Given the description of an element on the screen output the (x, y) to click on. 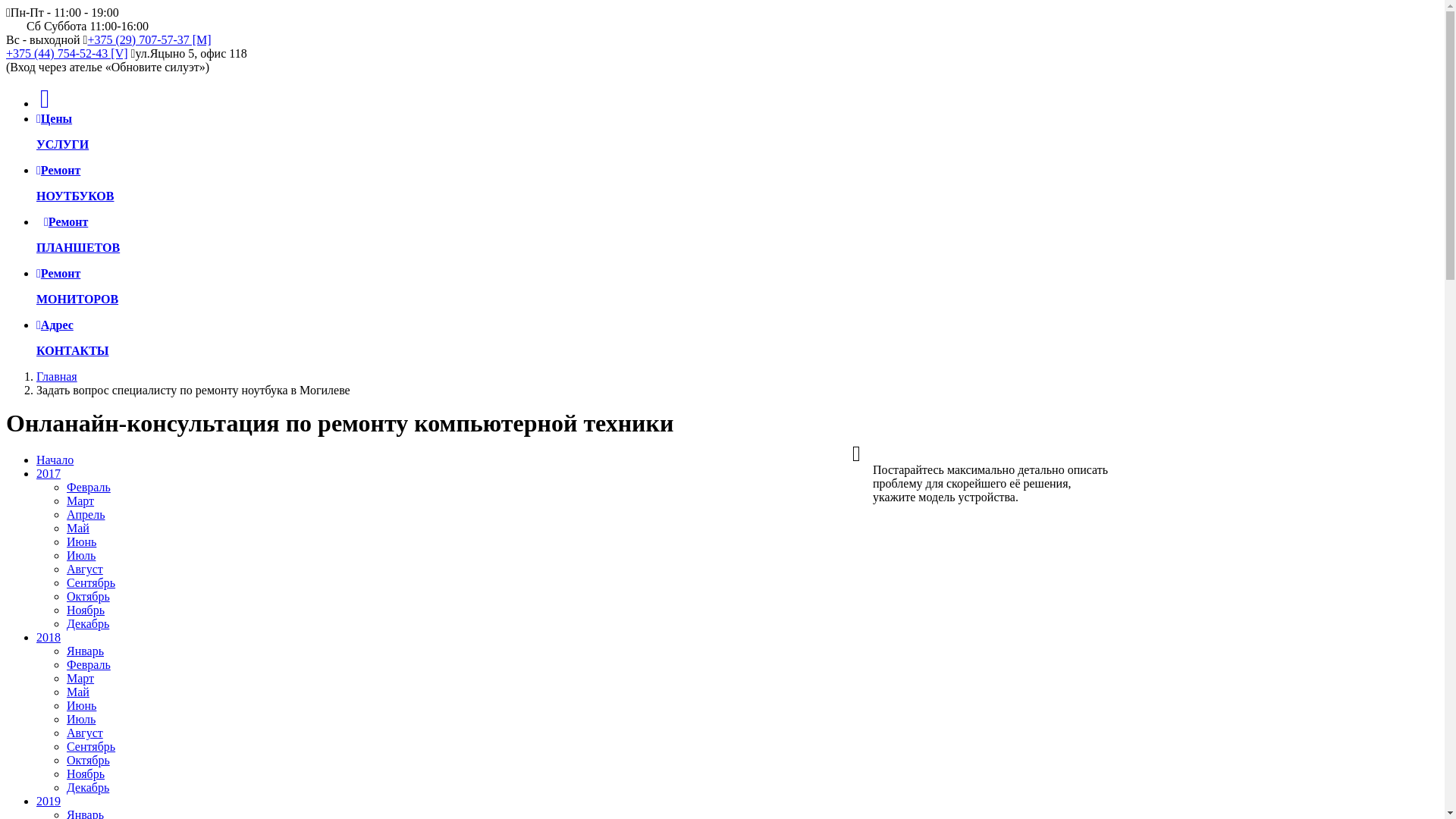
2017 Element type: text (48, 473)
2018 Element type: text (48, 636)
+375 (44) 754-52-43 [V] Element type: text (67, 53)
2019 Element type: text (48, 800)
